Given the description of an element on the screen output the (x, y) to click on. 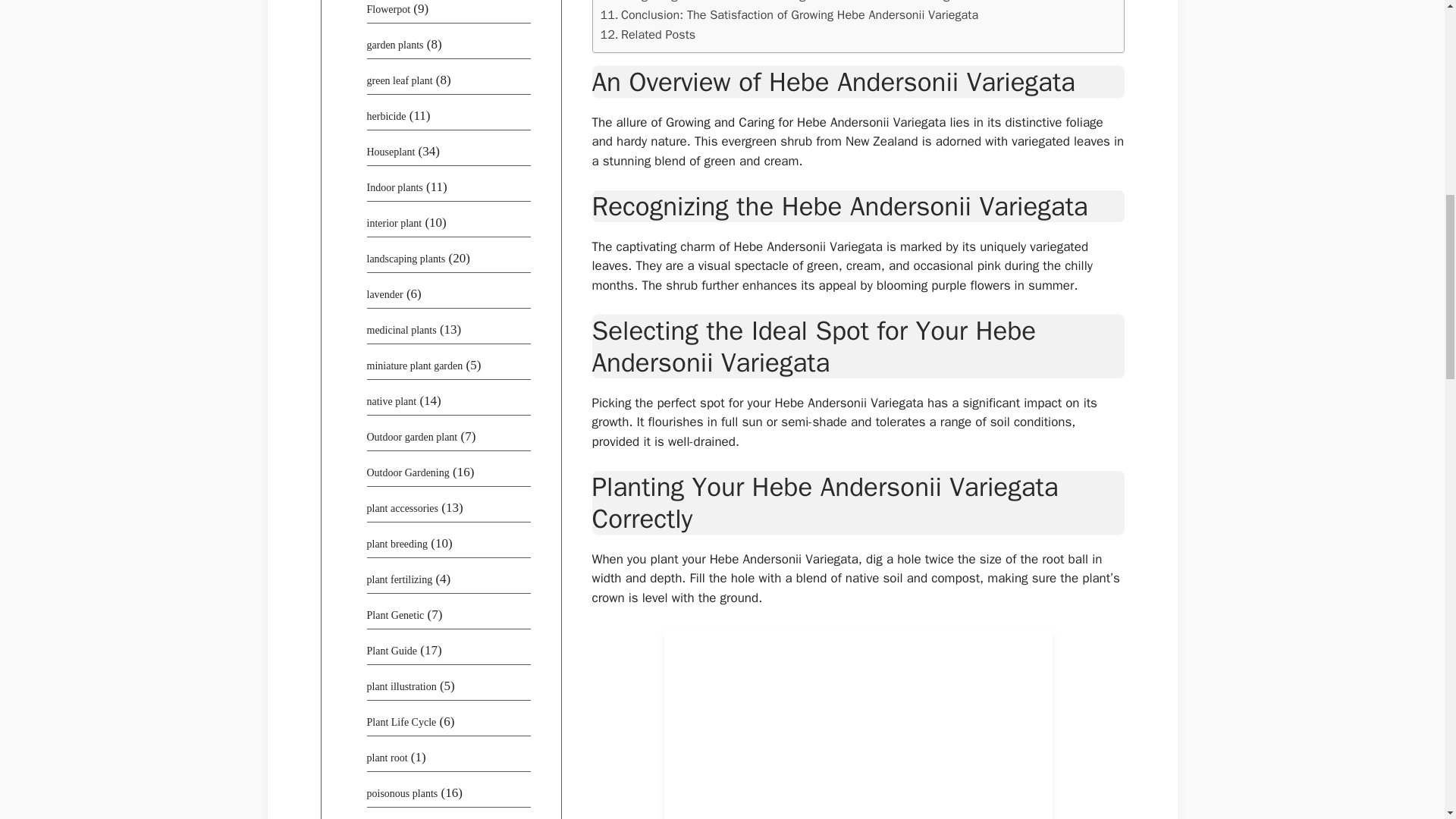
Related Posts (647, 35)
Related Posts (647, 35)
